Given the description of an element on the screen output the (x, y) to click on. 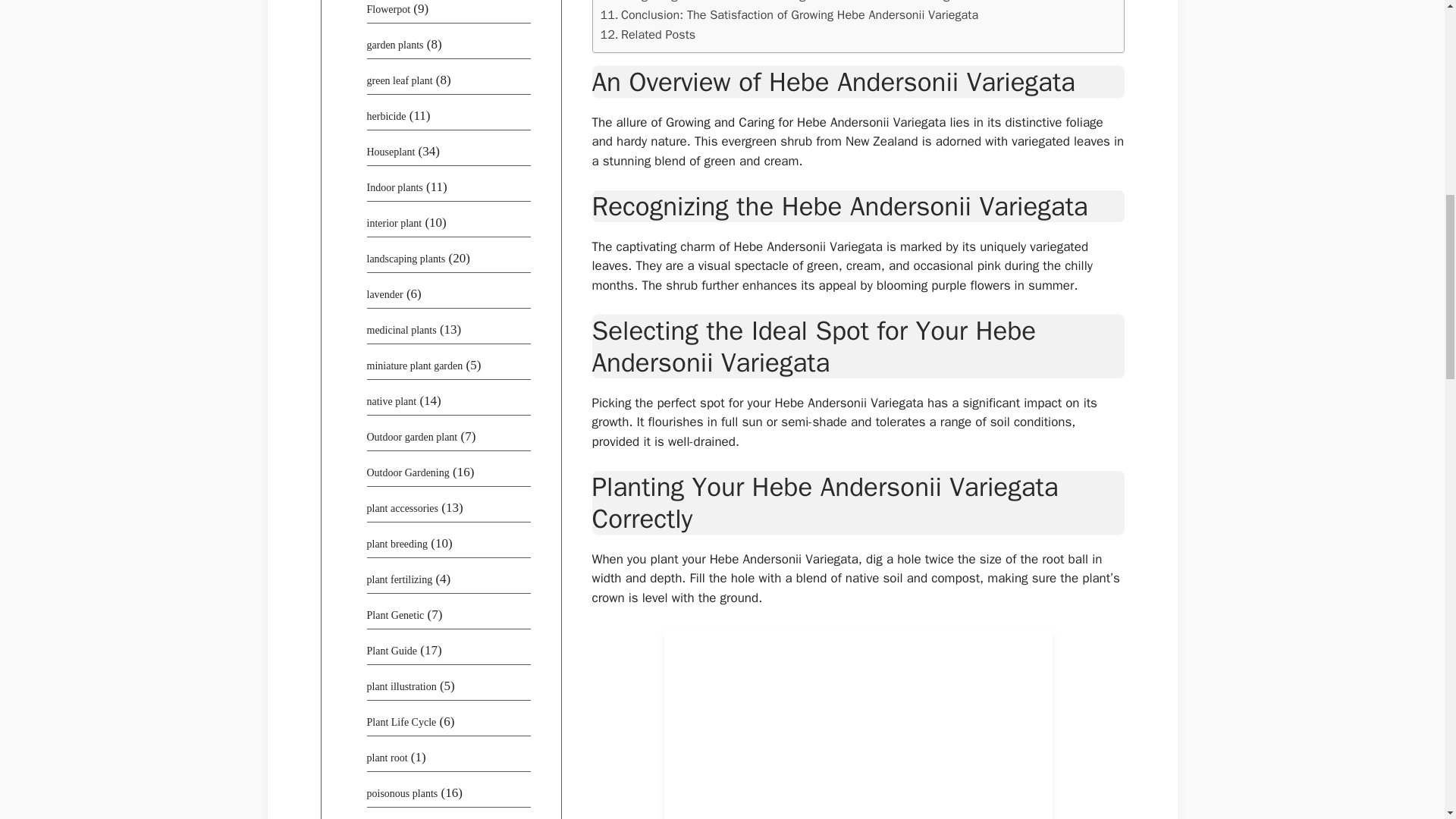
Related Posts (647, 35)
Related Posts (647, 35)
